Given the description of an element on the screen output the (x, y) to click on. 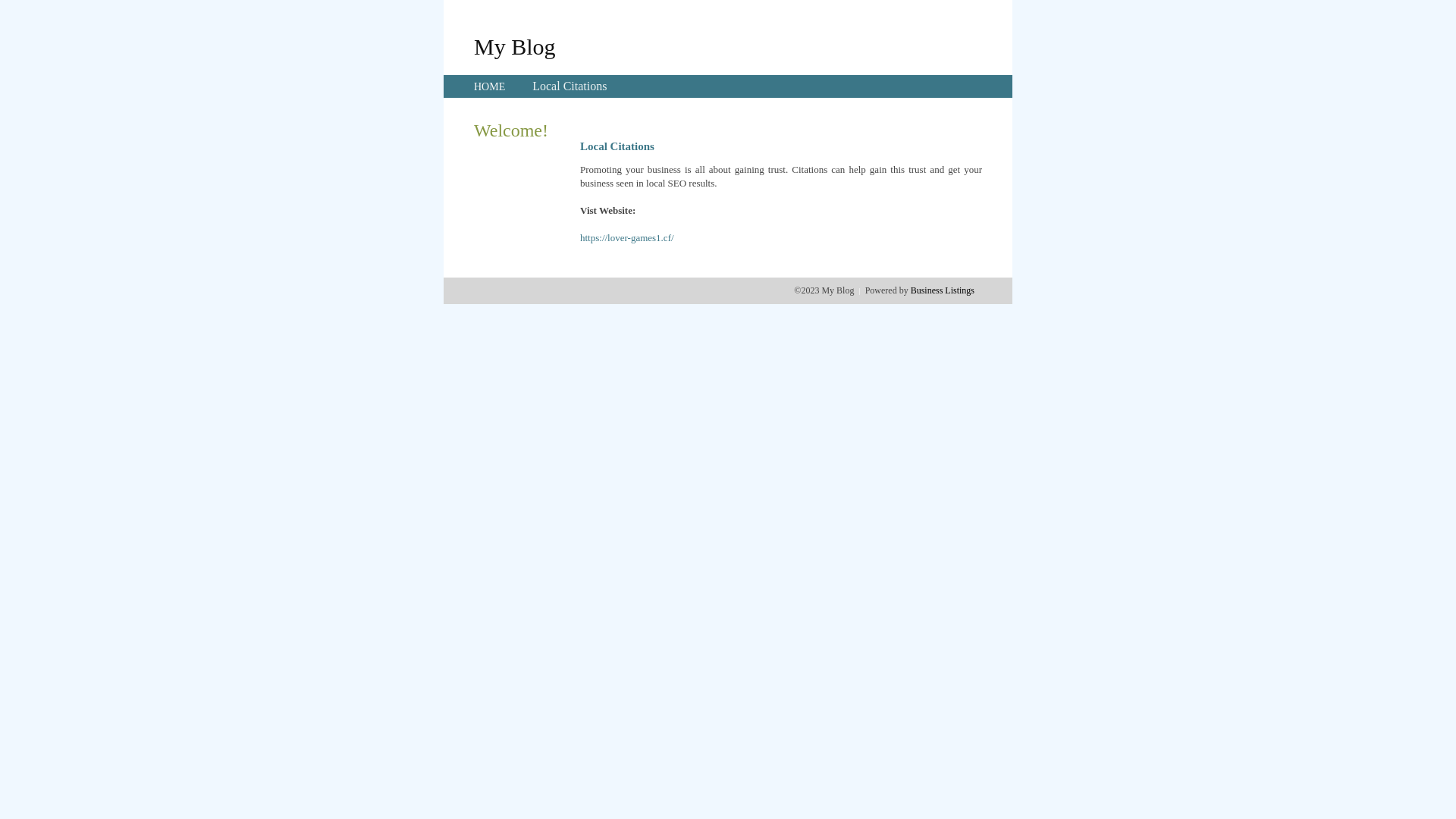
https://lover-games1.cf/ Element type: text (627, 237)
Local Citations Element type: text (569, 85)
HOME Element type: text (489, 86)
Business Listings Element type: text (942, 290)
My Blog Element type: text (514, 46)
